Given the description of an element on the screen output the (x, y) to click on. 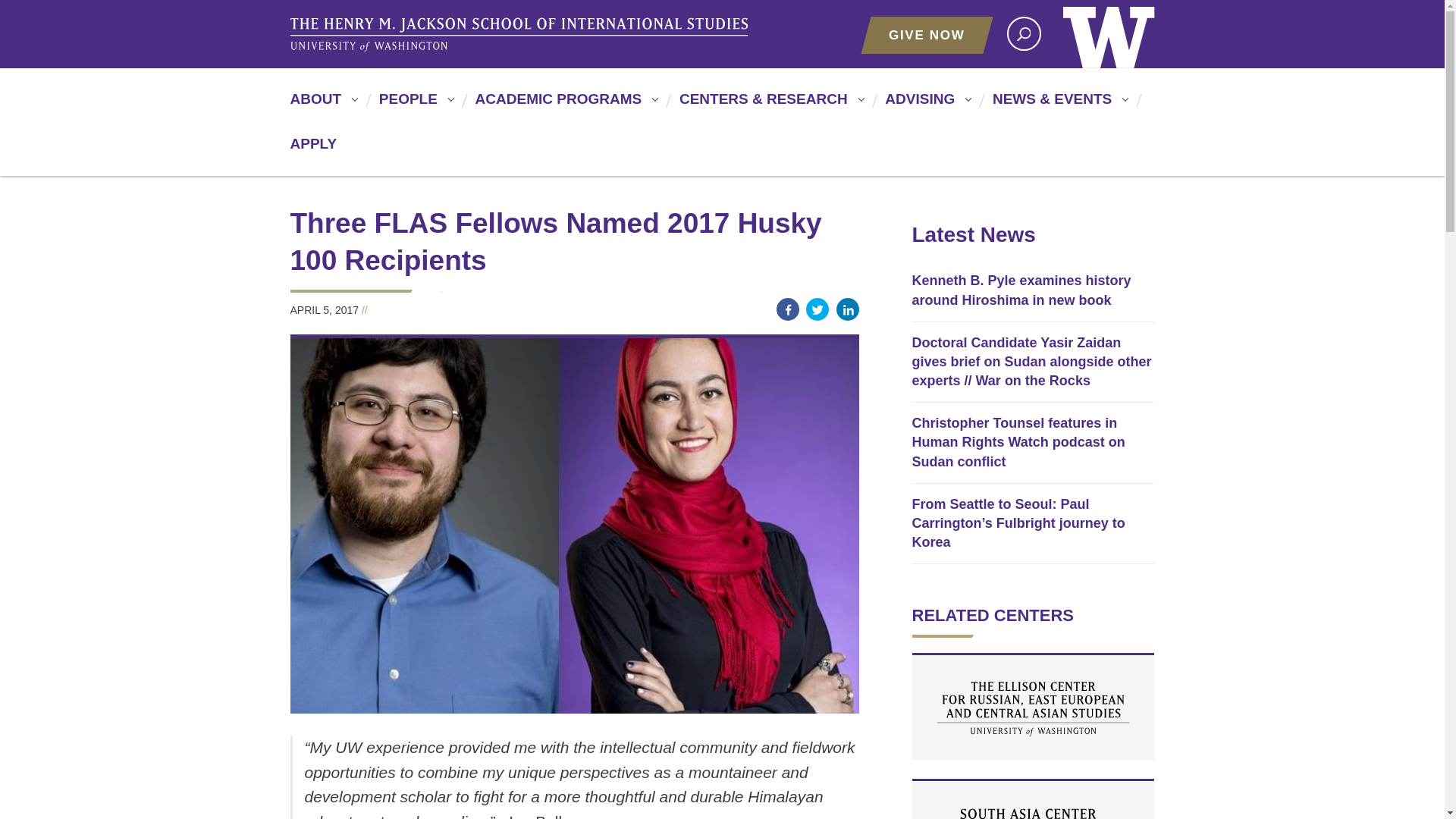
The Henry M. Jackson School of International Studies Home (520, 35)
University of Washington Home (1108, 33)
ADVISING (924, 105)
Academic Programs (564, 105)
Advising (924, 105)
University of Washington (1108, 33)
APPLY (312, 149)
About (322, 105)
People (414, 105)
GIVE NOW (927, 35)
PEOPLE (414, 105)
ABOUT (322, 105)
ACADEMIC PROGRAMS (564, 105)
